Given the description of an element on the screen output the (x, y) to click on. 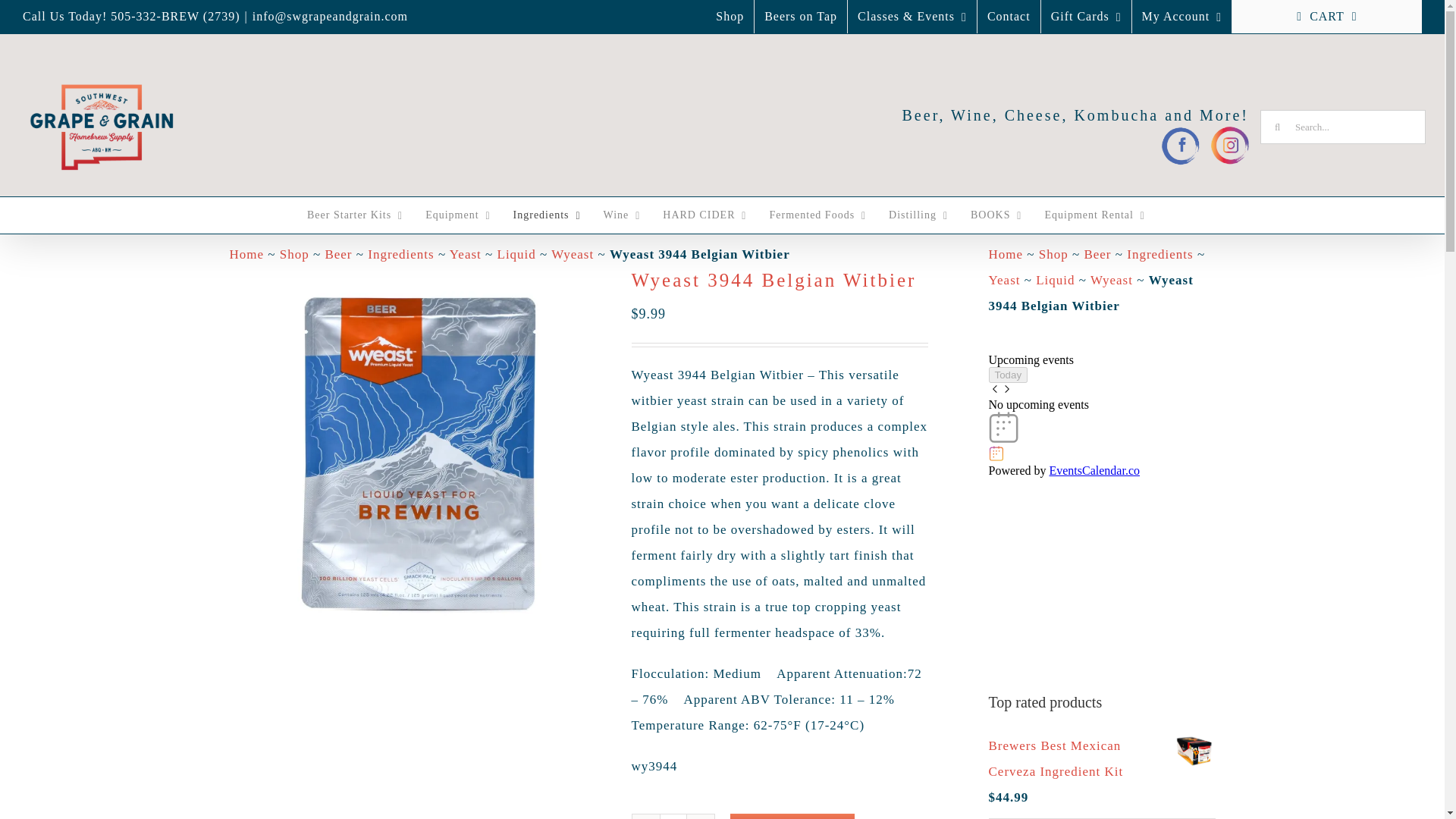
Beers on Tap (800, 16)
Contact (1008, 16)
Gift Cards (1086, 16)
Equipment (453, 215)
1 (673, 816)
Log In (1267, 170)
Beer Starter Kits (351, 215)
CART (1326, 16)
Shop (730, 16)
- (645, 816)
My Account (1181, 16)
